Given the description of an element on the screen output the (x, y) to click on. 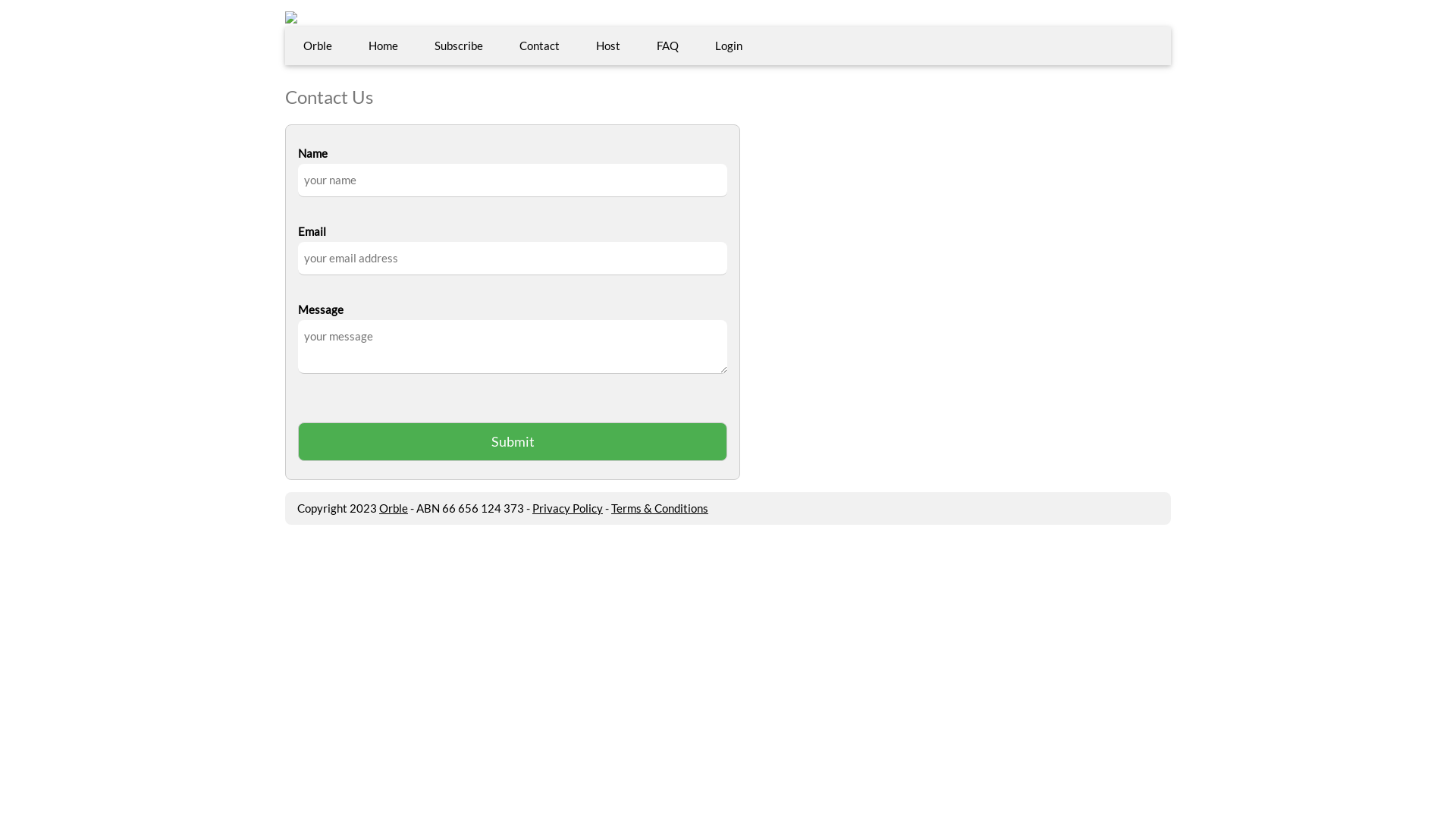
Login Element type: text (728, 45)
Privacy Policy Element type: text (567, 507)
Orble Element type: text (393, 507)
FAQ Element type: text (667, 45)
Host Element type: text (607, 45)
Orble Element type: text (317, 45)
Subscribe Element type: text (458, 45)
Contact Element type: text (539, 45)
Terms & Conditions Element type: text (659, 507)
Submit Element type: text (512, 441)
Home Element type: text (383, 45)
